Given the description of an element on the screen output the (x, y) to click on. 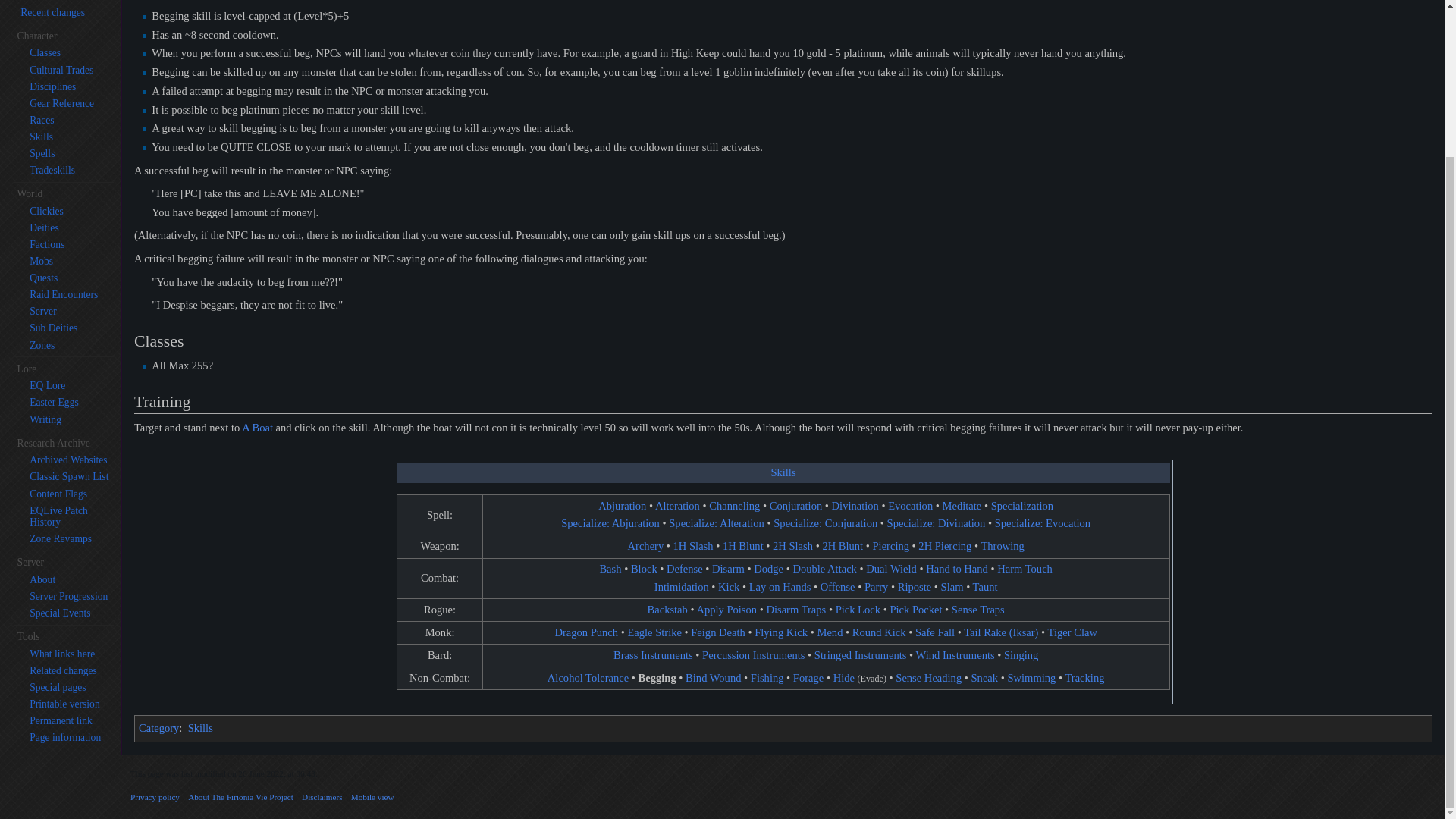
Archery (645, 545)
Double Attack (824, 568)
Dodge (768, 568)
1H Blunt (742, 545)
Category:Skills (782, 472)
Specialize: Evocation (1042, 522)
Bash (609, 568)
Specialization (1021, 505)
Evocation (910, 505)
Conjuration (796, 505)
